Given the description of an element on the screen output the (x, y) to click on. 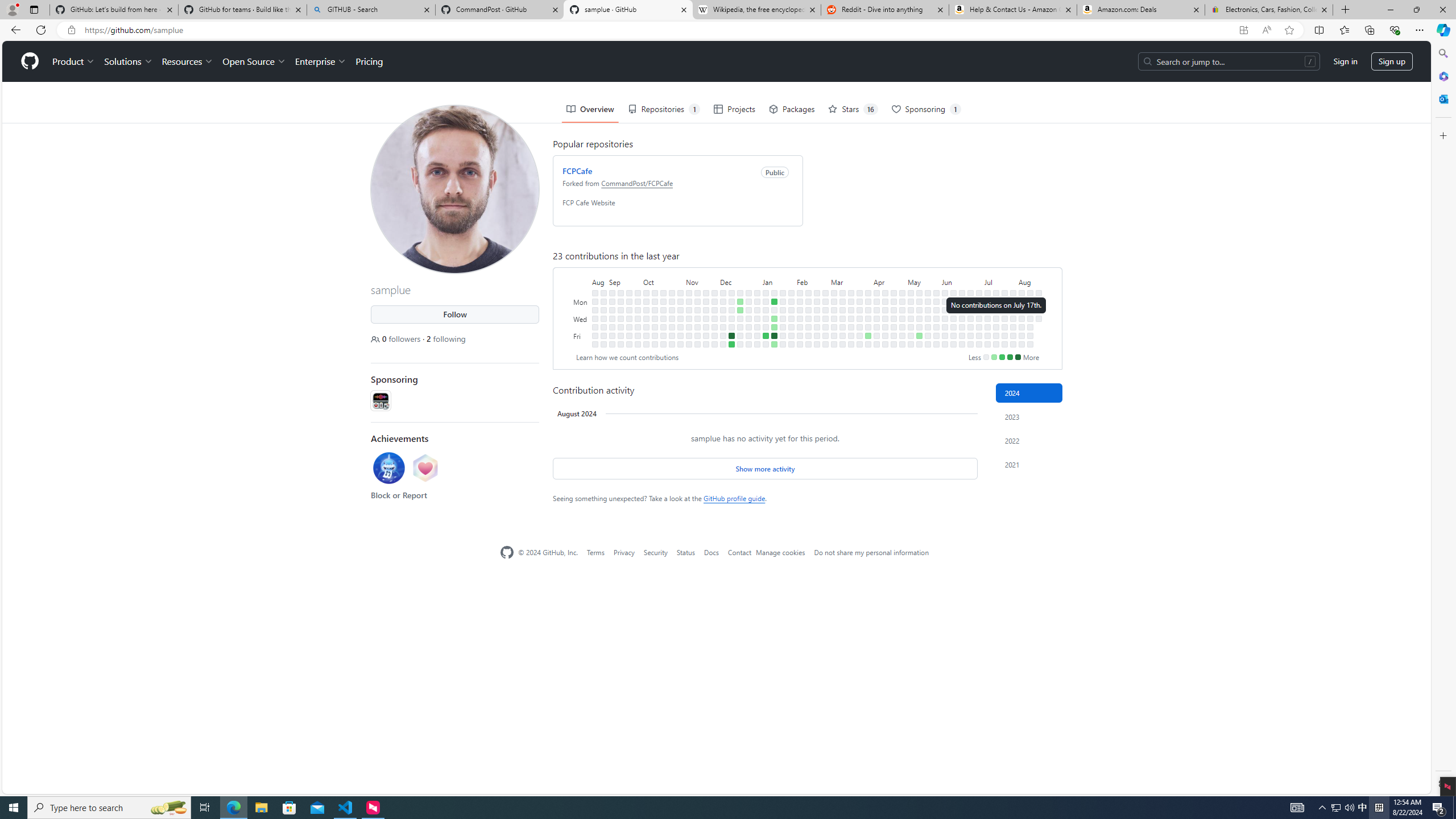
No contributions on May 18th. (919, 343)
No contributions on April 13th. (876, 343)
No contributions on October 1st. (646, 292)
Resources (187, 60)
No contributions on October 15th. (663, 292)
No contributions on August 19th. (1038, 301)
Packages (791, 108)
No contributions on June 9th. (953, 292)
No contributions on January 24th. (783, 318)
No contributions on August 18th. (1038, 292)
No contributions on January 9th. (765, 309)
Docs (711, 551)
No contributions on April 9th. (876, 309)
No contributions on February 10th. (799, 343)
